Given the description of an element on the screen output the (x, y) to click on. 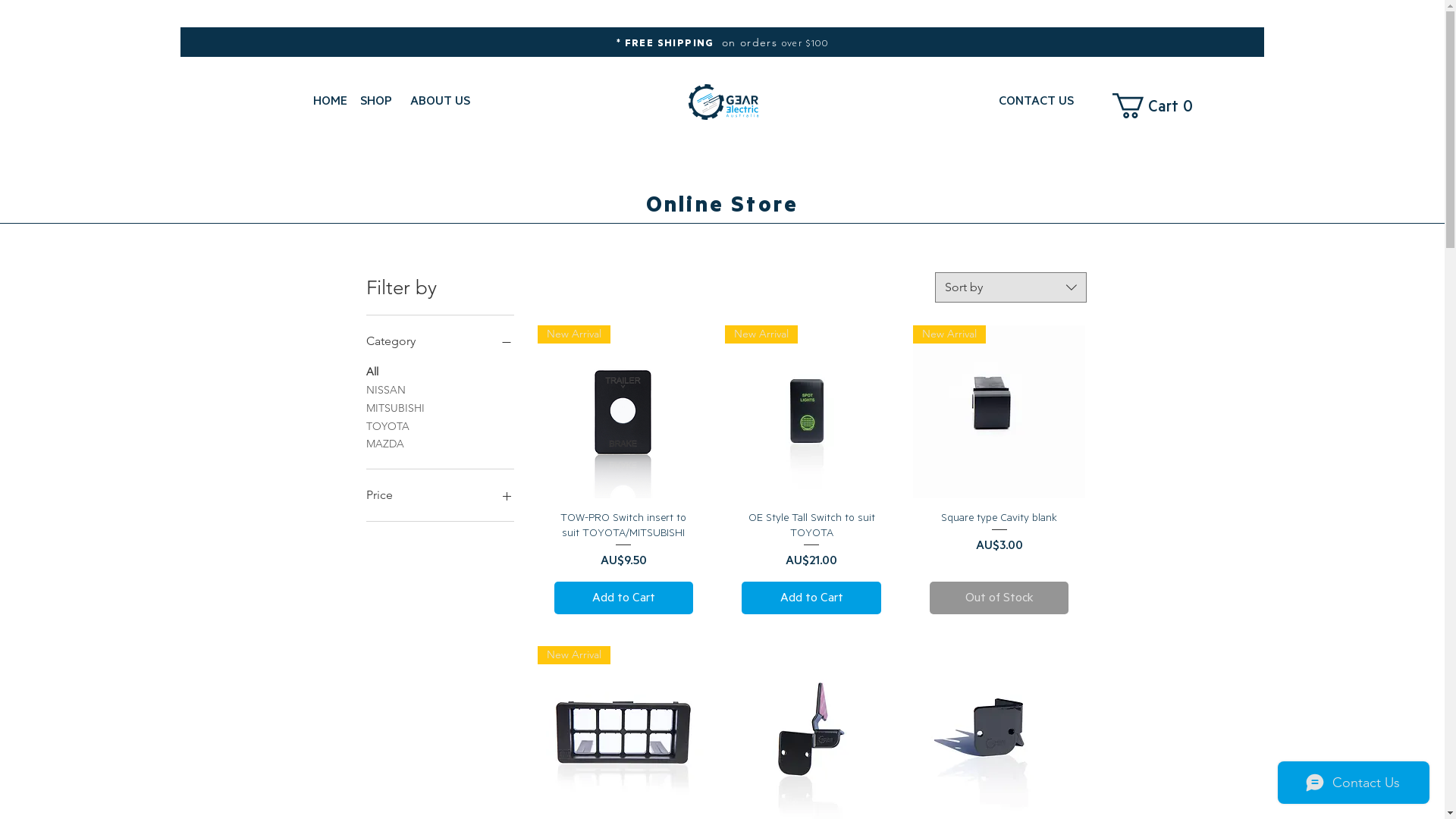
HOME Element type: text (329, 99)
ABOUT US Element type: text (439, 99)
Add to Cart Element type: text (811, 597)
Square type Cavity blank
Price
AU$3.00 Element type: text (999, 541)
Sort by Element type: text (1009, 287)
Add to Cart Element type: text (623, 597)
Price Element type: text (439, 494)
New Arrival Element type: text (810, 411)
SHOP Element type: text (375, 99)
Out of Stock Element type: text (999, 597)
OE Style Tall Switch to suit TOYOTA
Price
AU$21.00 Element type: text (811, 541)
Category Element type: text (439, 340)
New Arrival Element type: text (999, 411)
Cart
0 Element type: text (1156, 105)
New Arrival Element type: text (623, 411)
CONTACT US Element type: text (1035, 99)
